Given the description of an element on the screen output the (x, y) to click on. 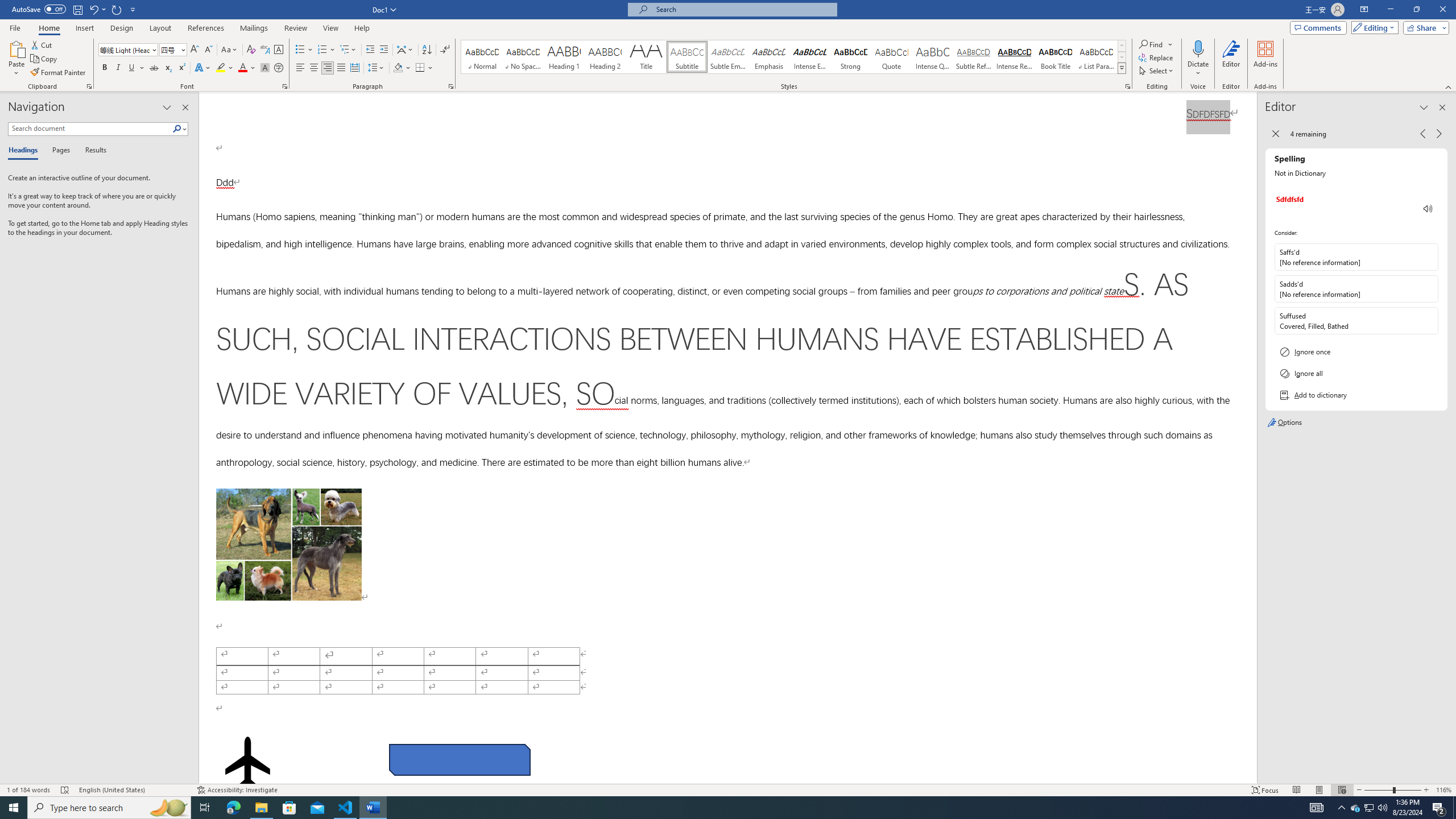
Title (646, 56)
Customize Quick Access Toolbar (133, 9)
Strong (849, 56)
Ribbon Display Options (1364, 9)
Clear Formatting (250, 49)
Subscript (167, 67)
View (330, 28)
Distributed (354, 67)
Zoom (1392, 790)
Strikethrough (154, 67)
Replace... (1156, 56)
Collapse the Ribbon (1448, 86)
Accessibility Checker Accessibility: Investigate (237, 790)
